Given the description of an element on the screen output the (x, y) to click on. 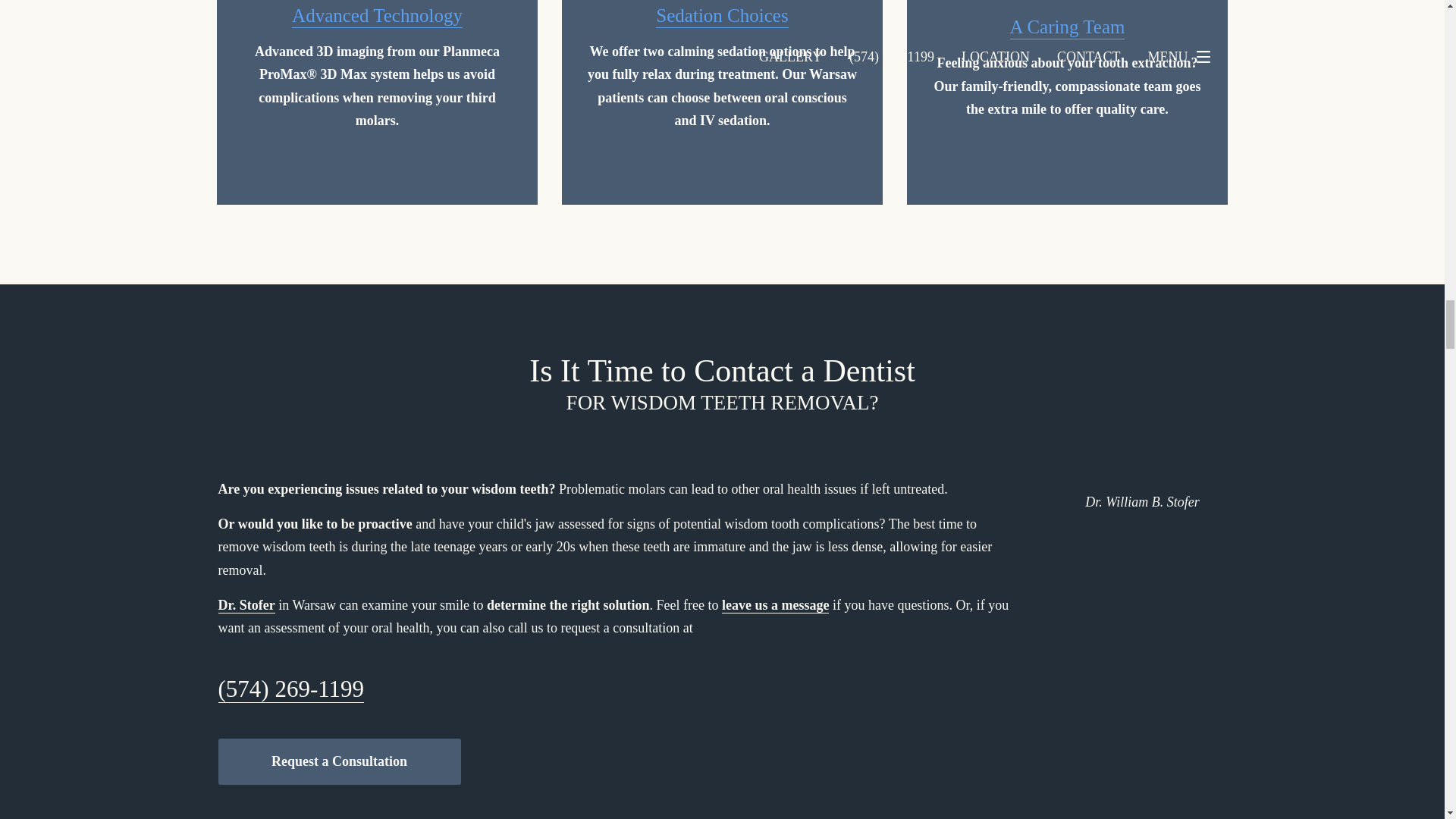
leave us a message (775, 605)
Dr. Stofer (246, 605)
Request a Consultation (339, 761)
